Given the description of an element on the screen output the (x, y) to click on. 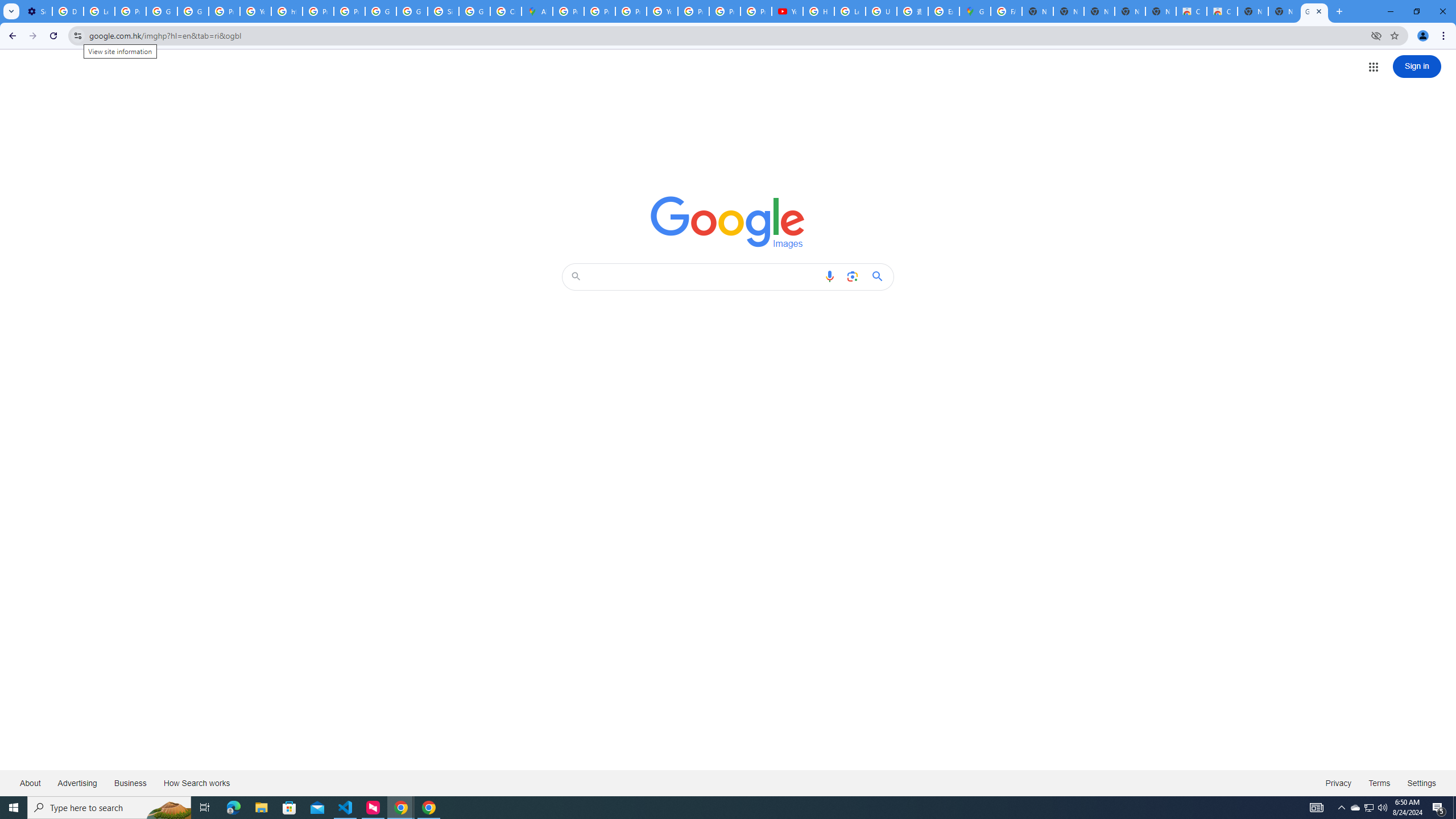
Explore new street-level details - Google Maps Help (943, 11)
Google Maps (974, 11)
About (30, 782)
Google Images (1314, 11)
